Given the description of an element on the screen output the (x, y) to click on. 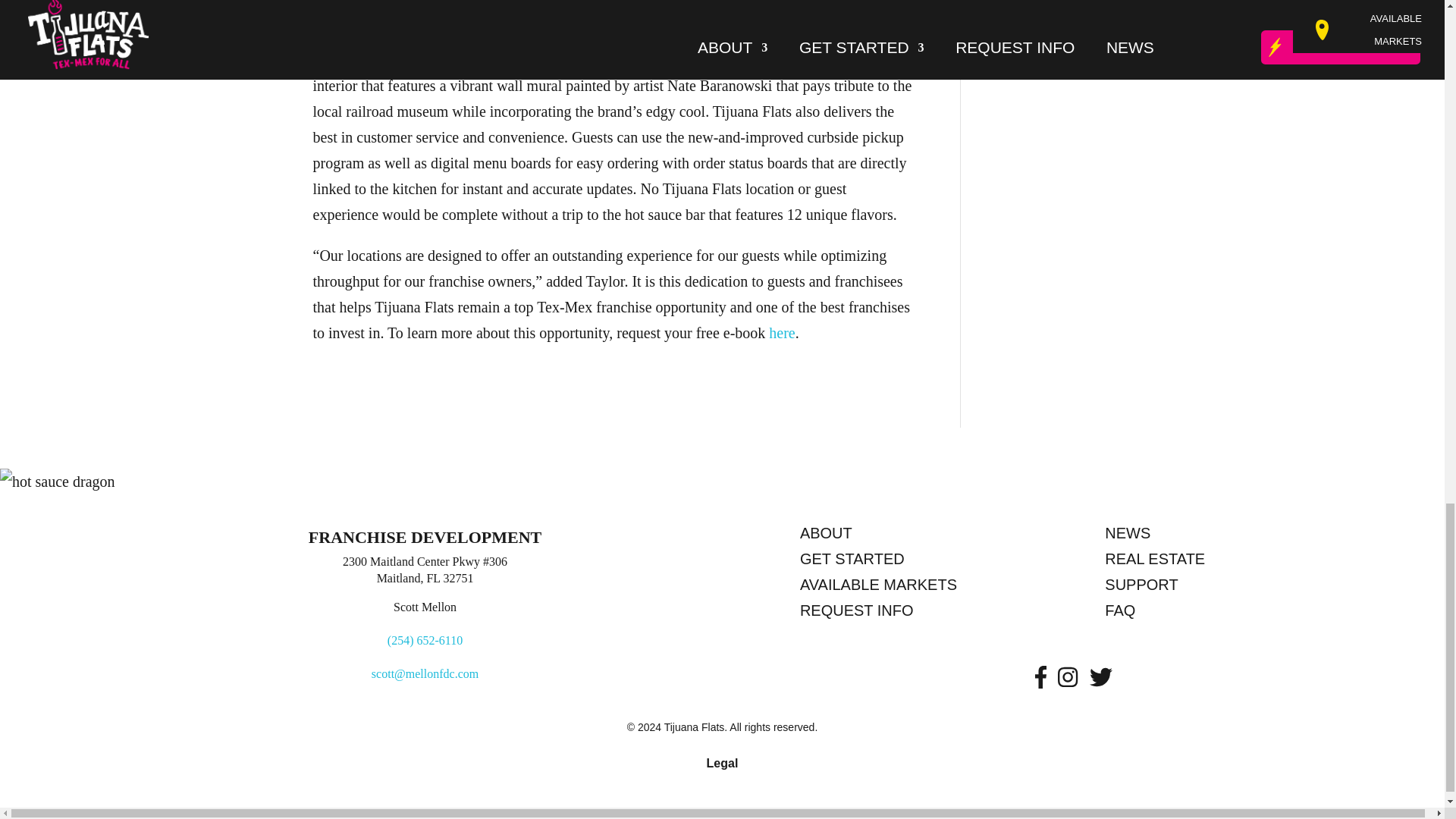
NEWS (1245, 535)
here (781, 332)
Legal (722, 762)
GET STARTED (939, 561)
ABOUT (939, 535)
SUPPORT (1245, 587)
AVAILABLE MARKETS (939, 587)
REAL ESTATE (1245, 561)
FAQ (1245, 613)
REQUEST INFO (939, 613)
